Given the description of an element on the screen output the (x, y) to click on. 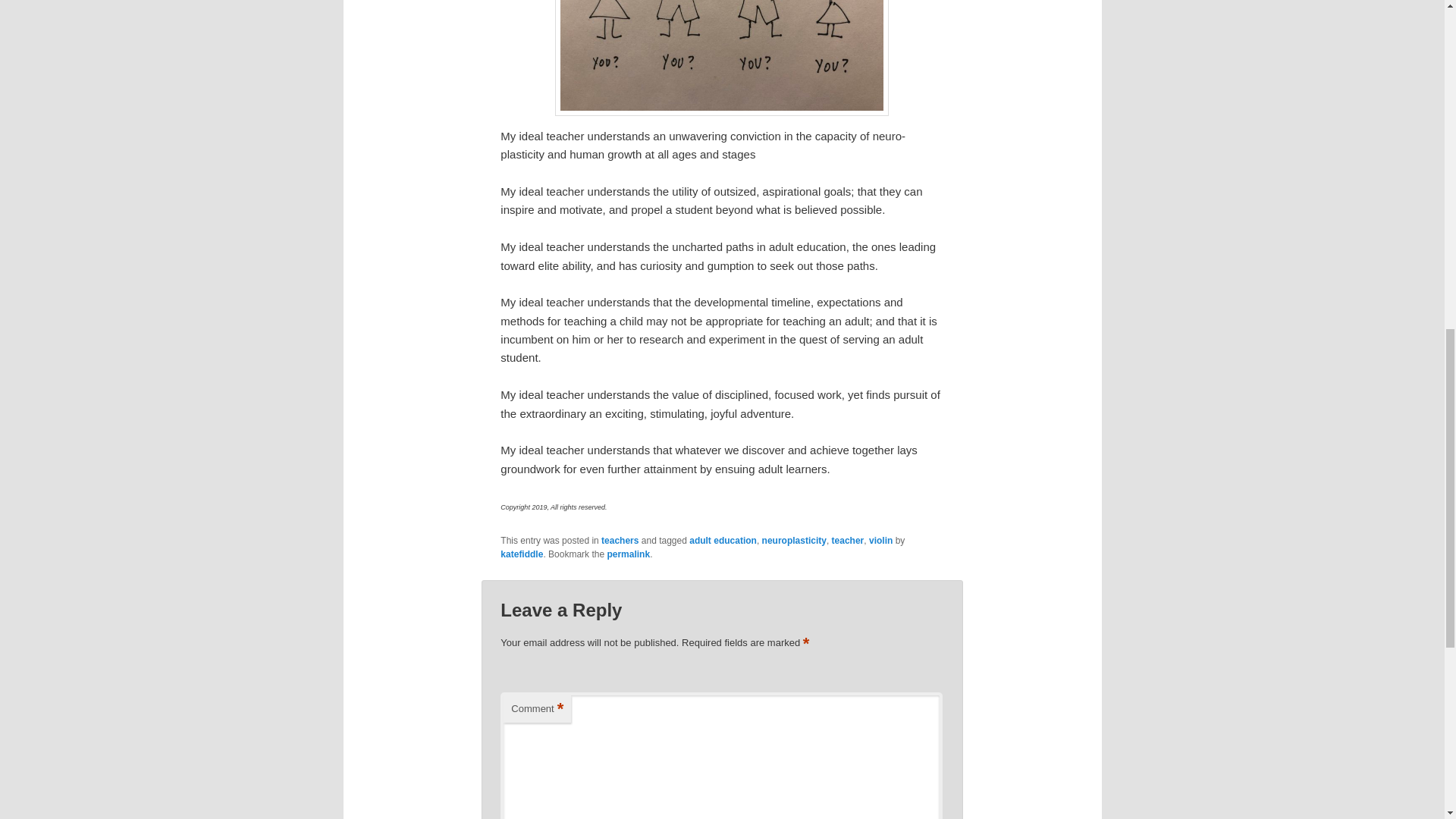
adult education (722, 540)
Permalink to My Ideal Teacher (628, 553)
neuroplasticity (794, 540)
katefiddle (521, 553)
teacher (847, 540)
teachers (620, 540)
violin (880, 540)
permalink (628, 553)
